Given the description of an element on the screen output the (x, y) to click on. 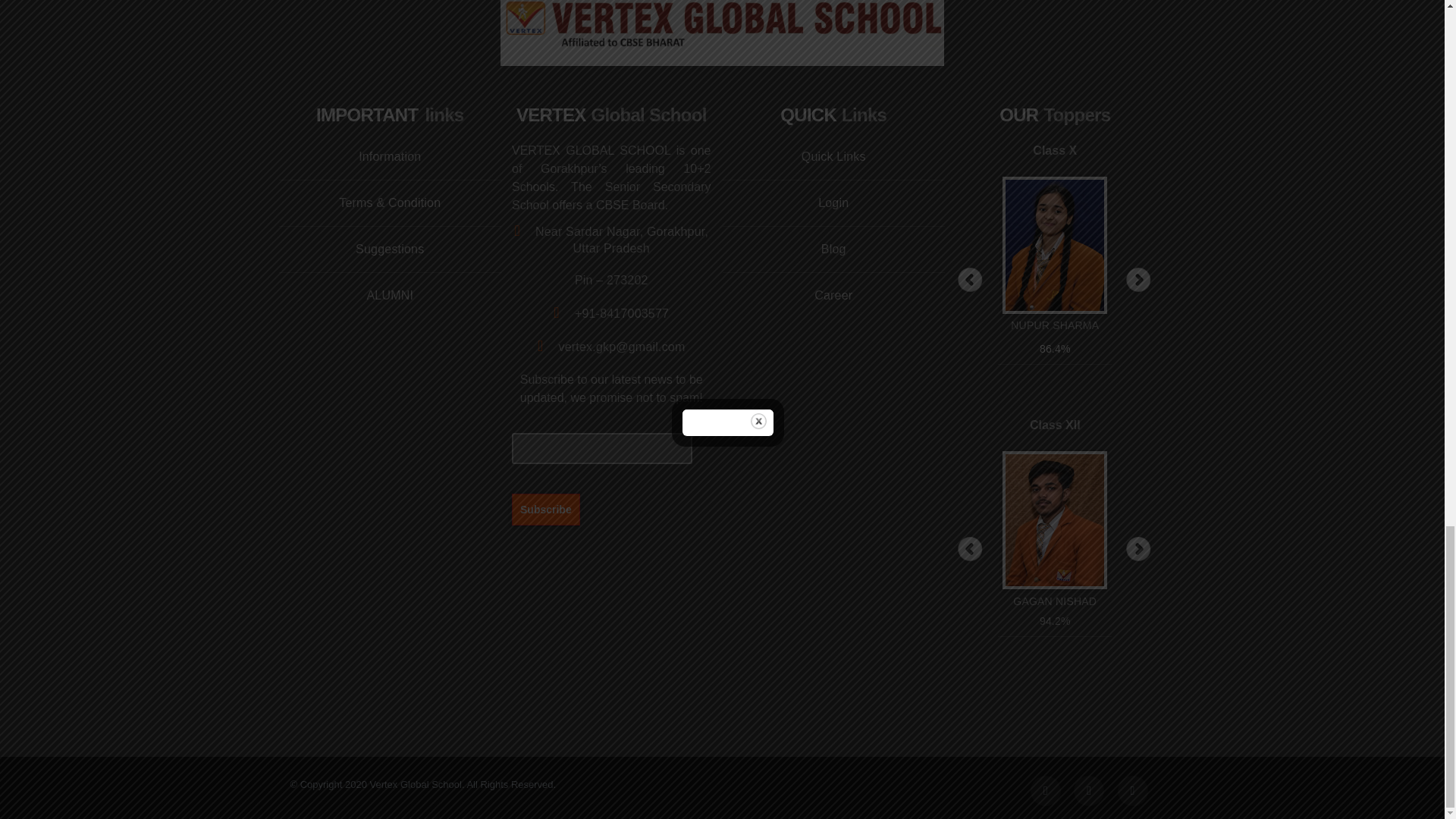
Subscribe (545, 508)
